Given the description of an element on the screen output the (x, y) to click on. 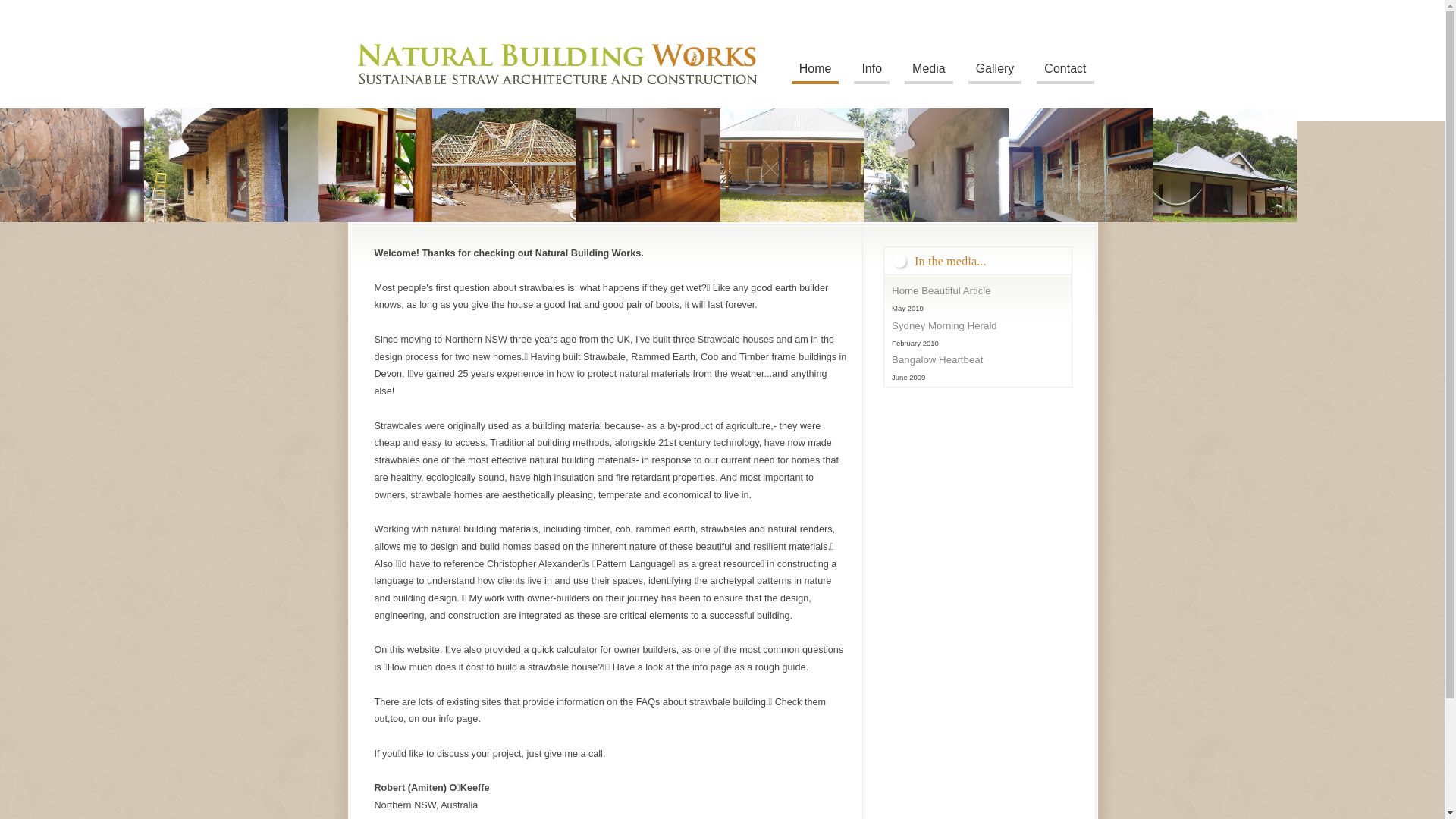
Sydney Morning Herald Element type: text (944, 325)
Home Beautiful Article Element type: text (941, 290)
Bangalow Heartbeat Element type: text (936, 359)
Info Element type: text (871, 70)
Media Element type: text (928, 70)
Gallery Element type: text (995, 70)
Home Element type: text (815, 70)
Contact Element type: text (1064, 70)
